Given the description of an element on the screen output the (x, y) to click on. 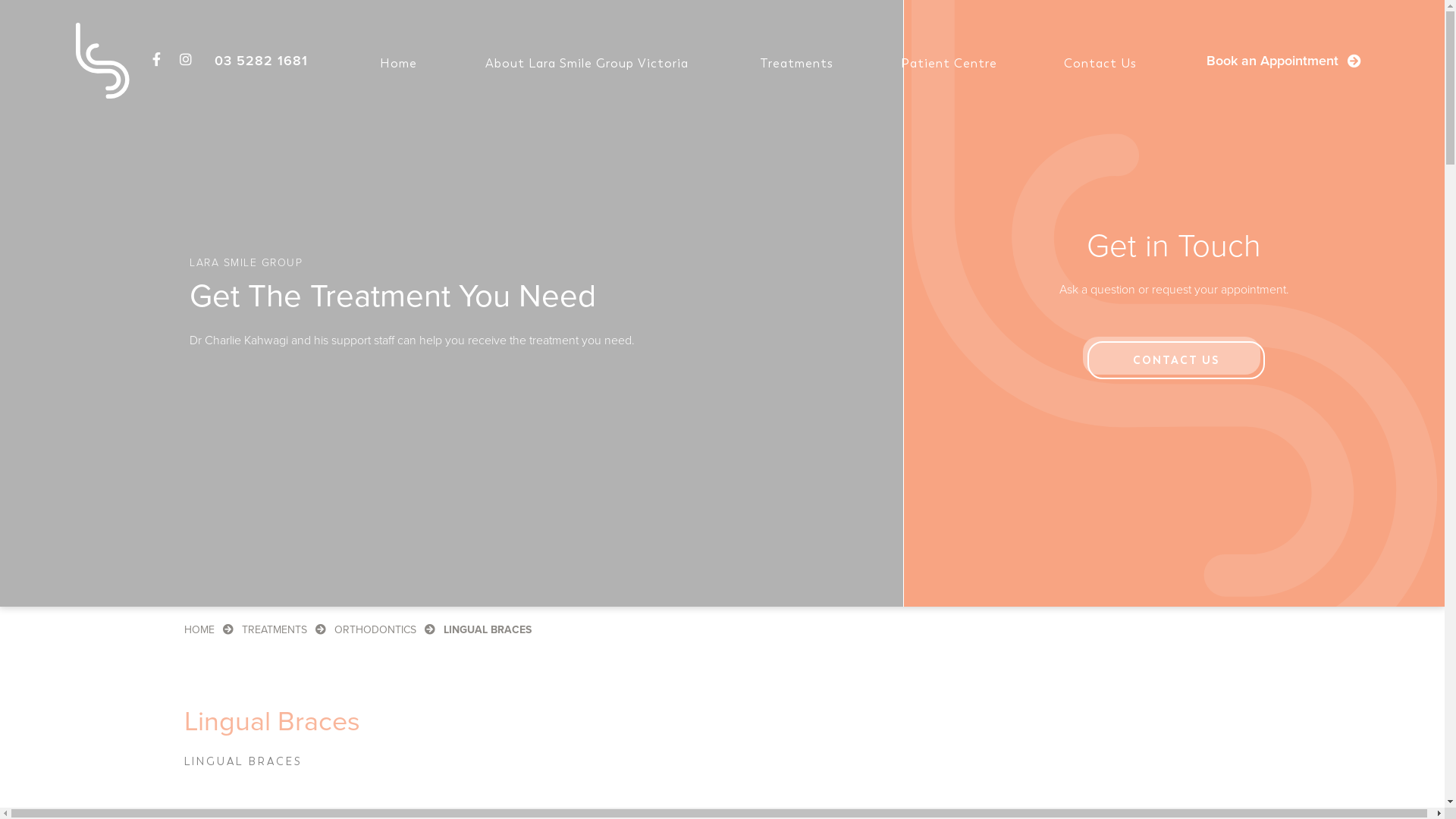
About Lara Smile Group Victoria Element type: text (586, 63)
ORTHODONTICS Element type: text (374, 629)
Book an Appointment Element type: text (1283, 60)
Treatments Element type: text (796, 63)
CONTACT US Element type: text (1175, 360)
Contact Us Element type: text (1099, 63)
Home Element type: text (398, 63)
Patient Centre Element type: text (949, 63)
HOME Element type: text (198, 629)
03 5282 1681 Element type: text (260, 61)
TREATMENTS Element type: text (273, 629)
